Given the description of an element on the screen output the (x, y) to click on. 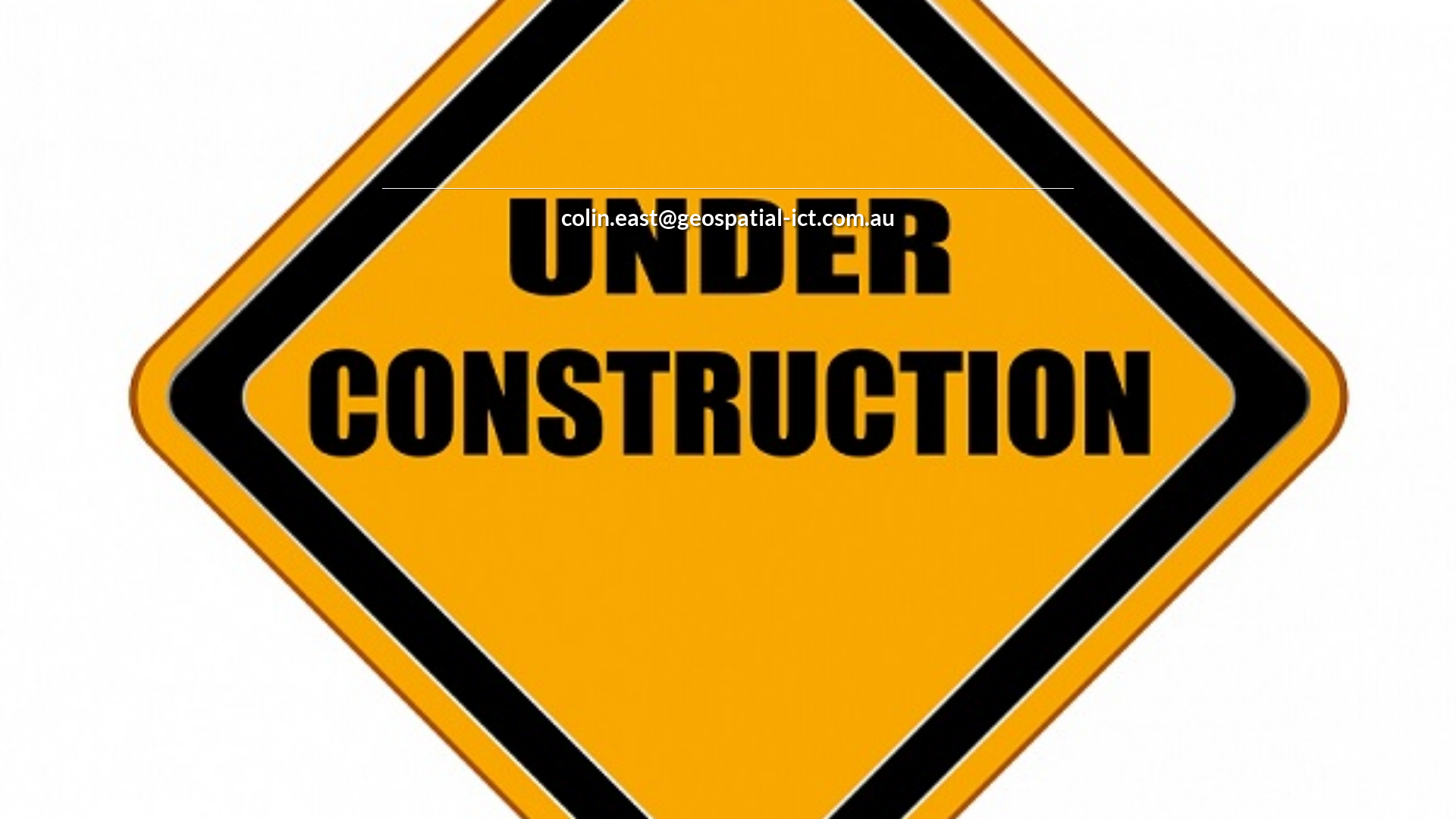
colin.east@geospatial-ict.com.au Element type: text (727, 216)
